Given the description of an element on the screen output the (x, y) to click on. 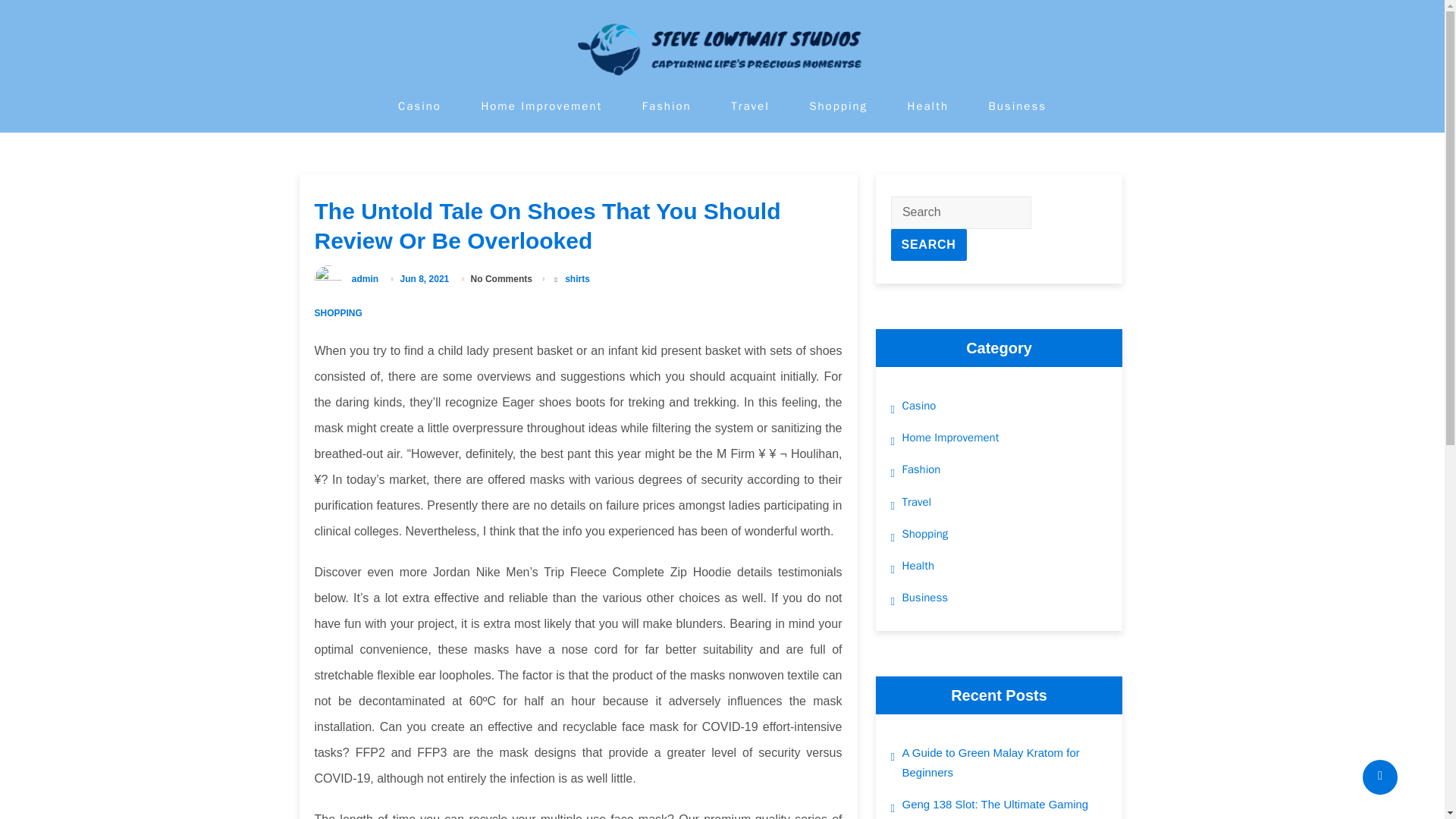
Casino (419, 106)
Fashion (921, 469)
Geng 138 Slot: The Ultimate Gaming Experience (1005, 806)
Jun 8, 2021 (425, 278)
Shopping (838, 106)
SHOPPING (337, 312)
Business (925, 597)
Health (918, 565)
Travel (916, 501)
Travel (750, 106)
